Given the description of an element on the screen output the (x, y) to click on. 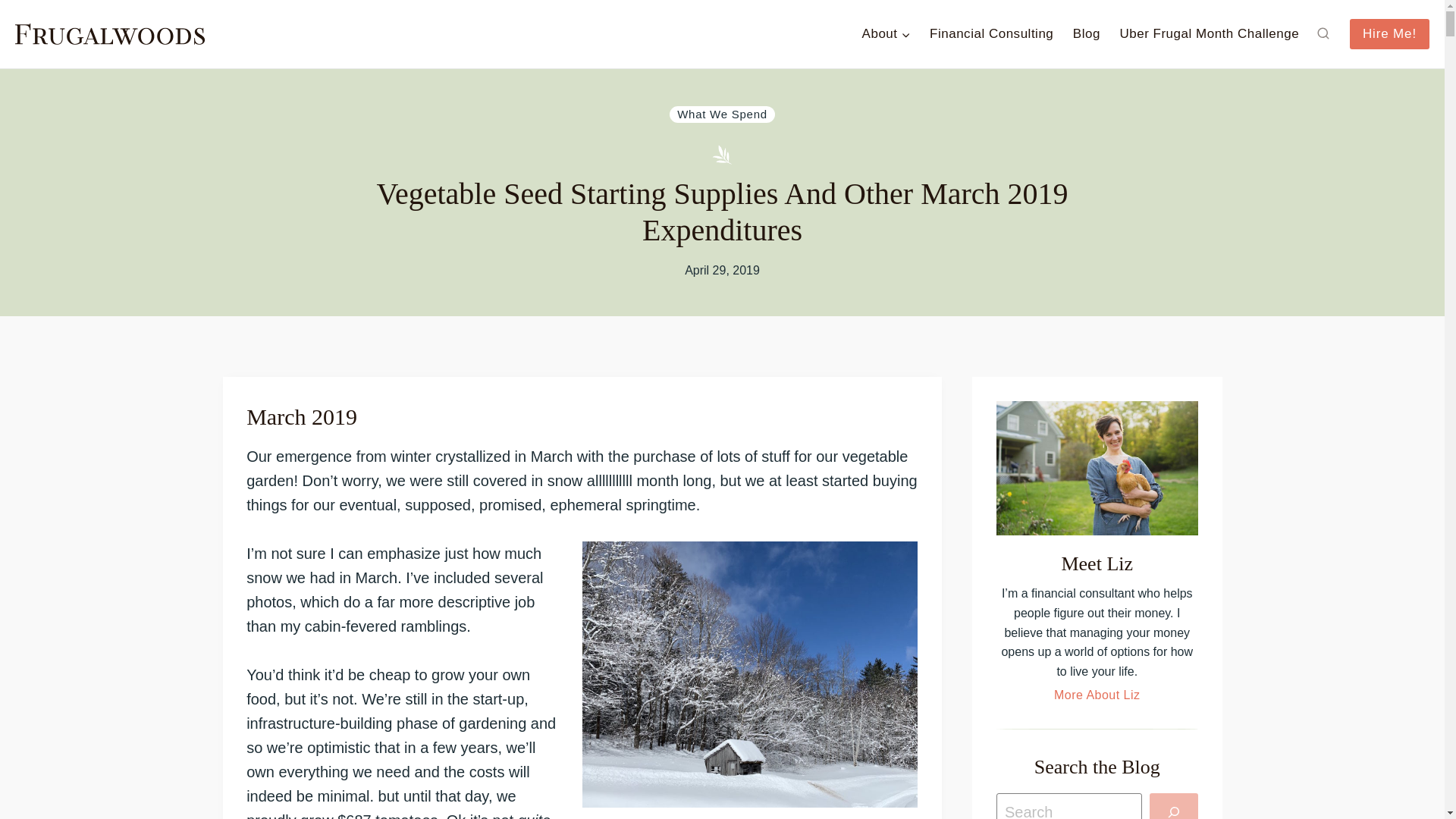
Hire Me! (1389, 33)
About (885, 33)
Uber Frugal Month Challenge (1208, 33)
What We Spend (721, 114)
Financial Consulting (991, 33)
Blog (1085, 33)
